Given the description of an element on the screen output the (x, y) to click on. 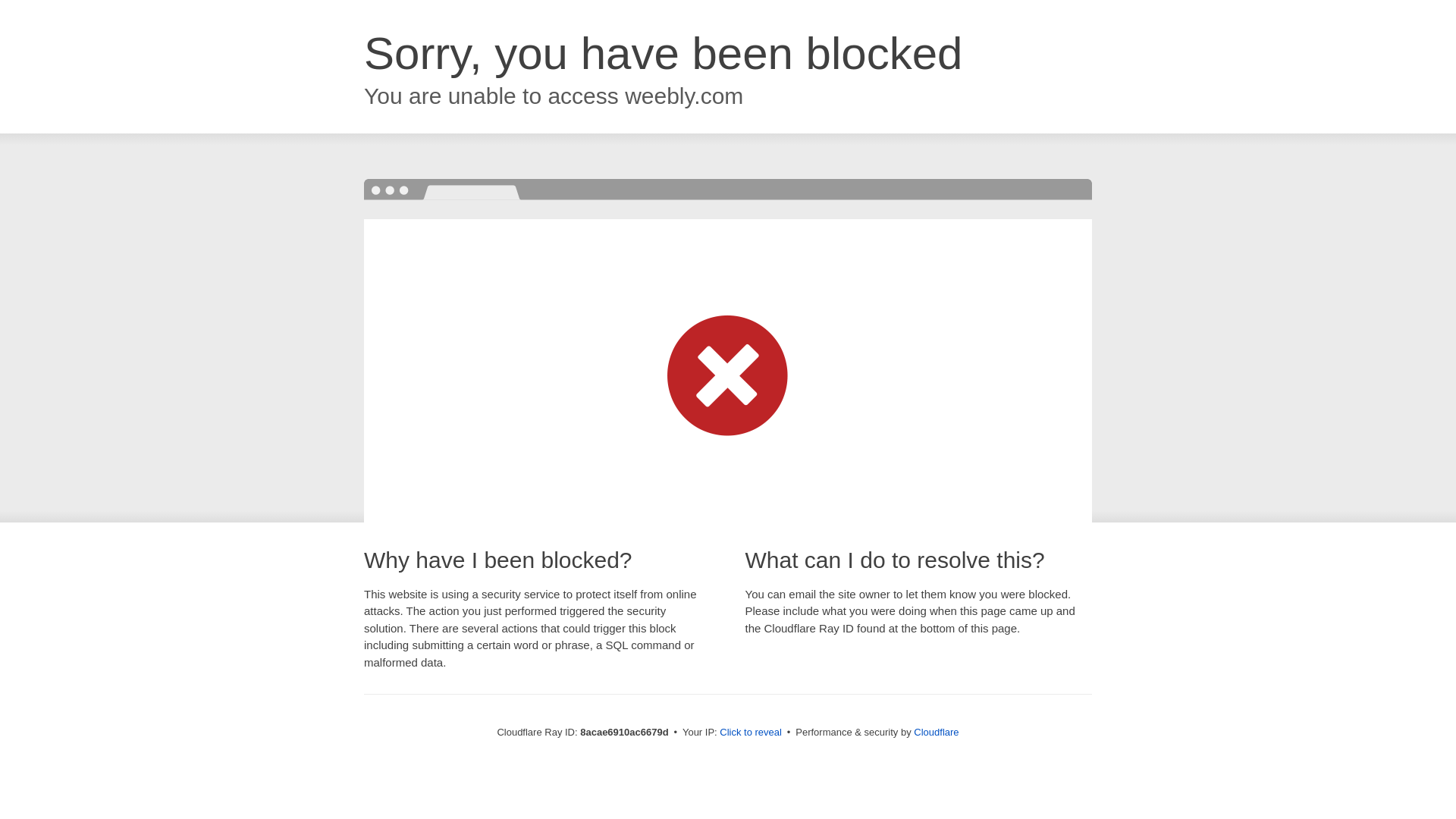
Cloudflare (936, 731)
Click to reveal (750, 732)
